Given the description of an element on the screen output the (x, y) to click on. 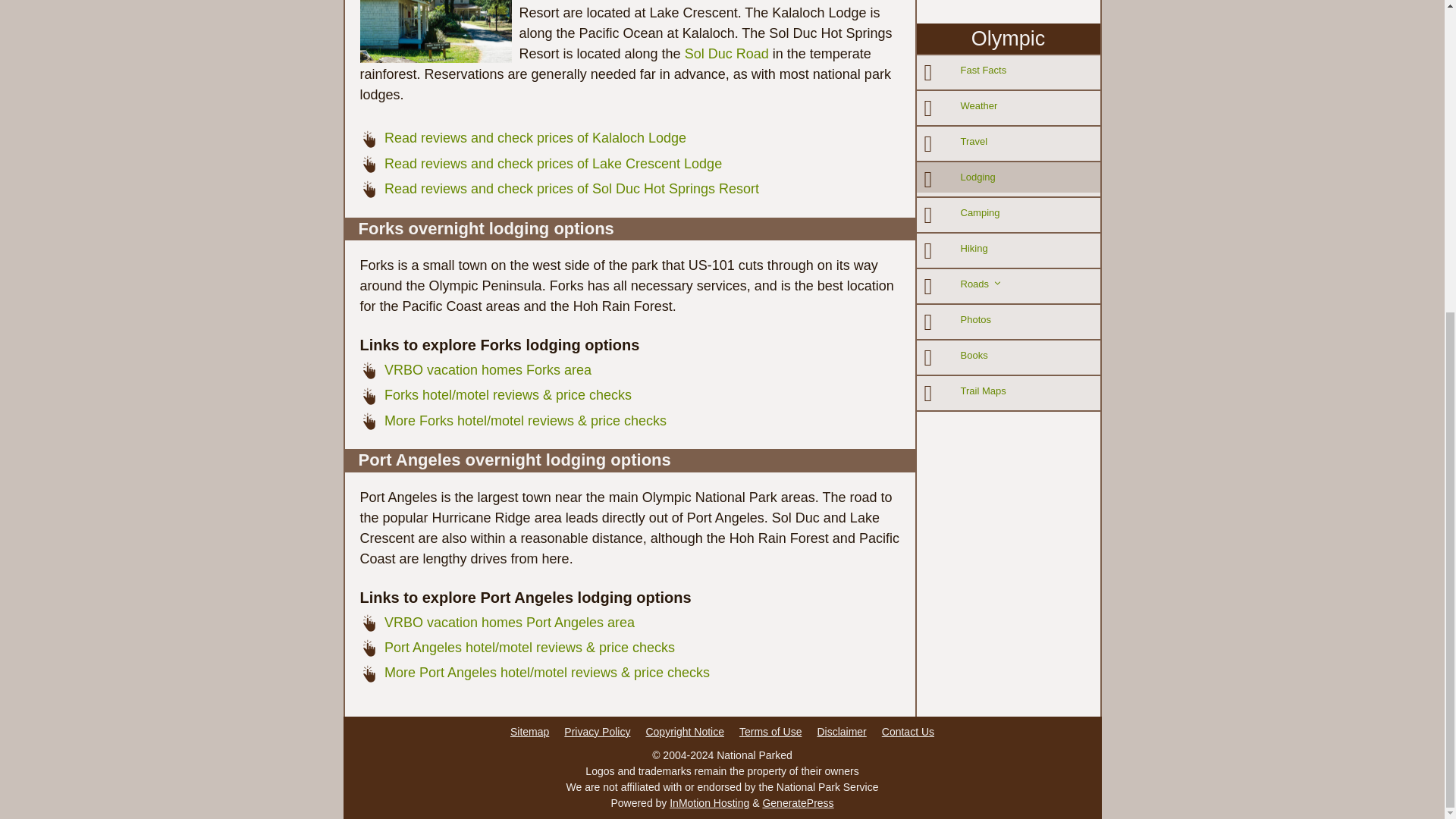
VRBO vacation homes Port Angeles area (509, 622)
Read reviews and check prices of Sol Duc Hot Springs Resort (571, 188)
Read reviews and check prices of Lake Crescent Lodge (553, 163)
Sol Duc Road (726, 53)
VRBO vacation homes Forks area (487, 369)
Read reviews and check prices of Kalaloch Lodge (534, 137)
